Given the description of an element on the screen output the (x, y) to click on. 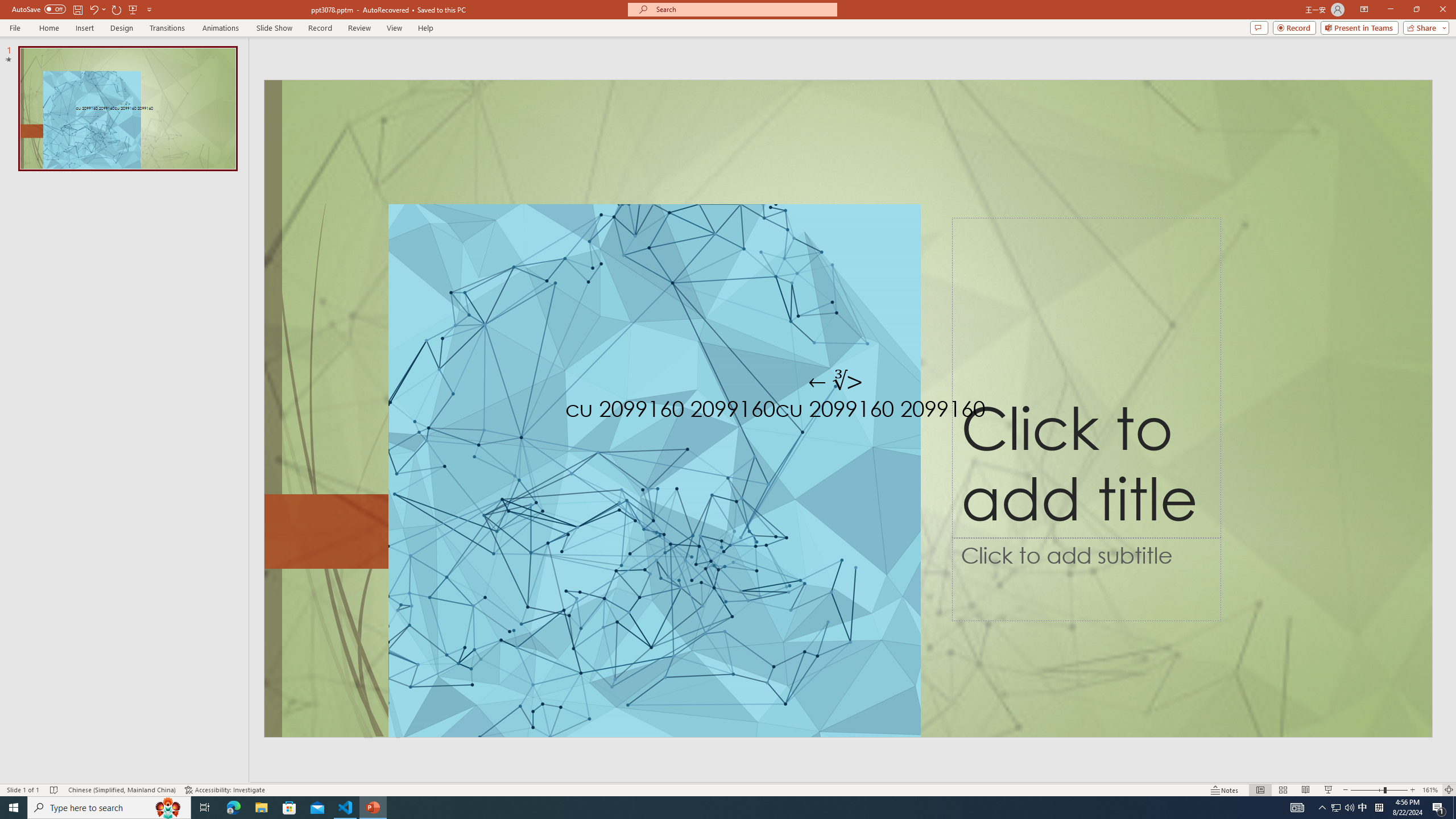
Slide (127, 108)
